Given the description of an element on the screen output the (x, y) to click on. 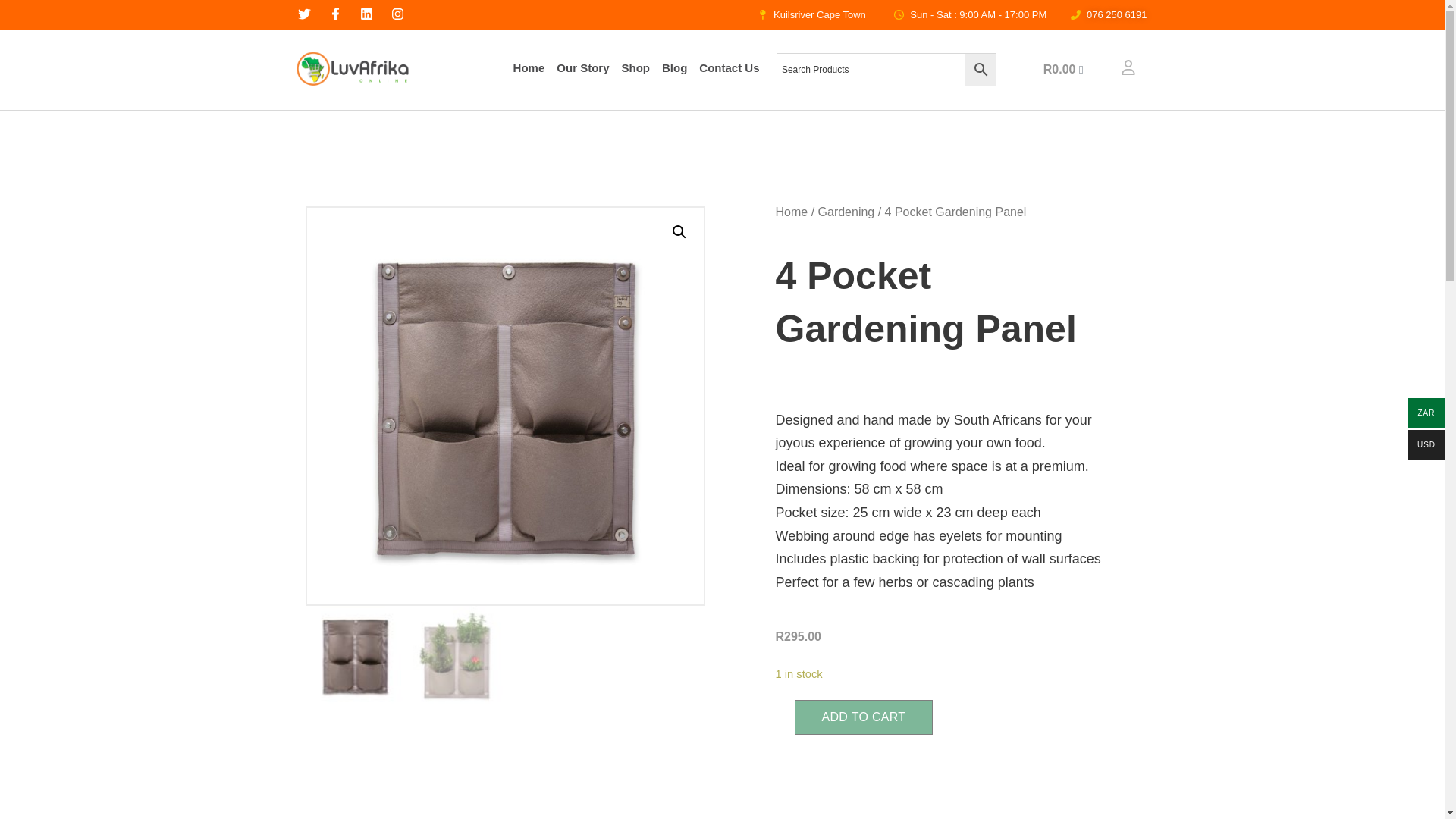
076 250 6191 (1104, 14)
Our Story (582, 67)
Home (528, 67)
Shop (635, 67)
Home (791, 210)
R0.00 (1063, 69)
ADD TO CART (863, 717)
Contact Us (729, 67)
Gardening (846, 210)
